Given the description of an element on the screen output the (x, y) to click on. 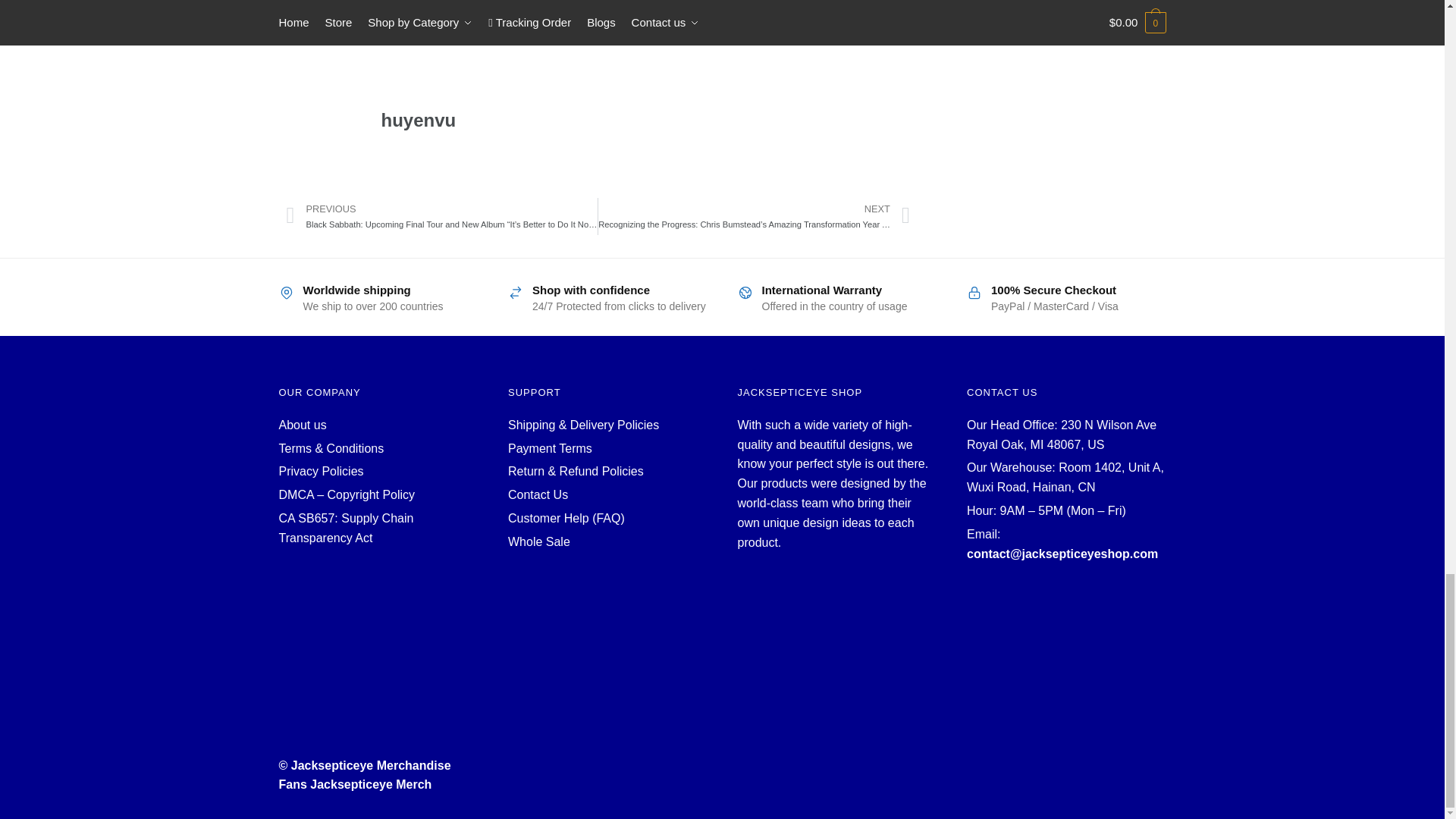
DMCA.com Protection Status (379, 608)
